Given the description of an element on the screen output the (x, y) to click on. 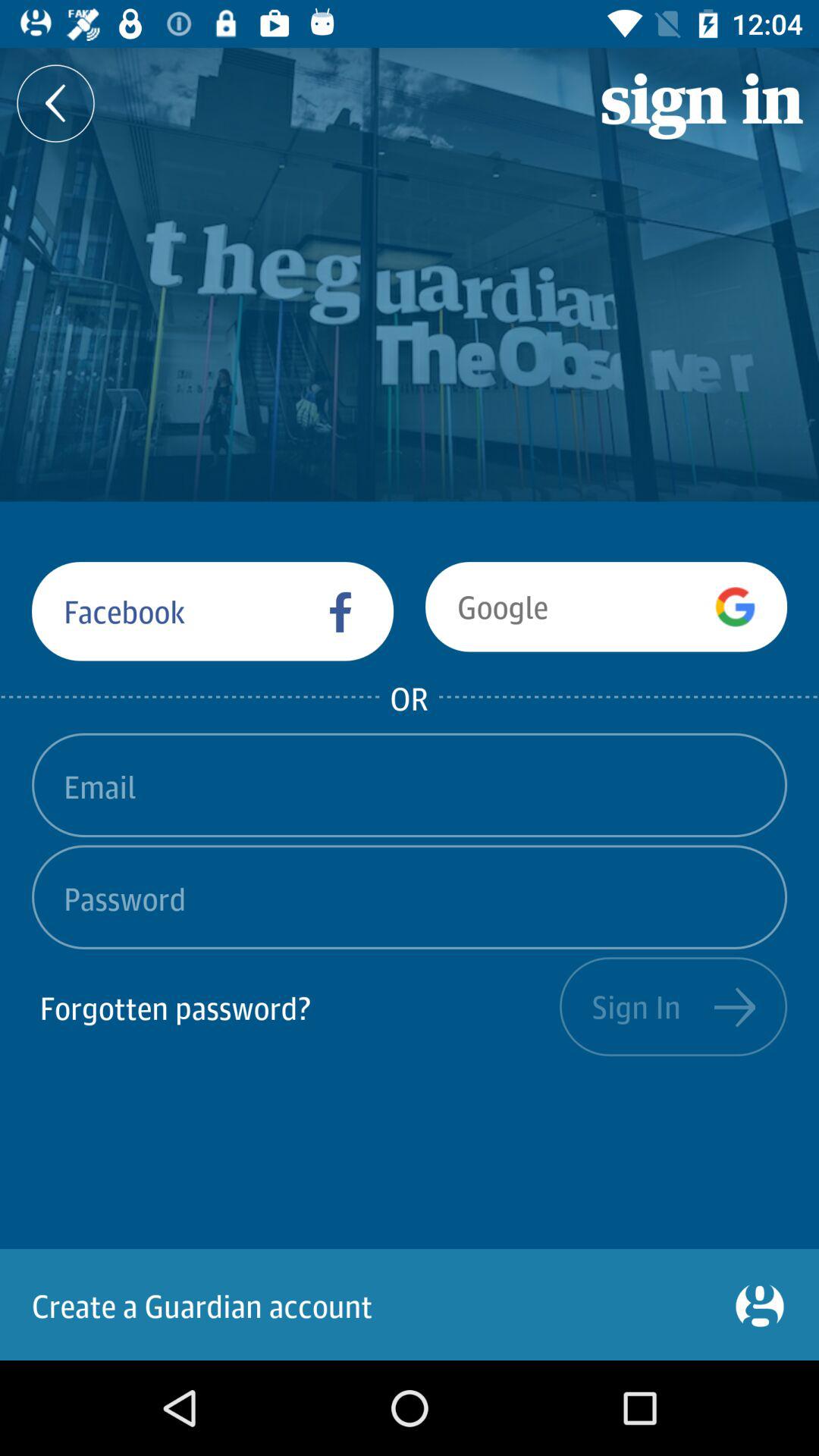
open the icon at the top left corner (55, 103)
